Given the description of an element on the screen output the (x, y) to click on. 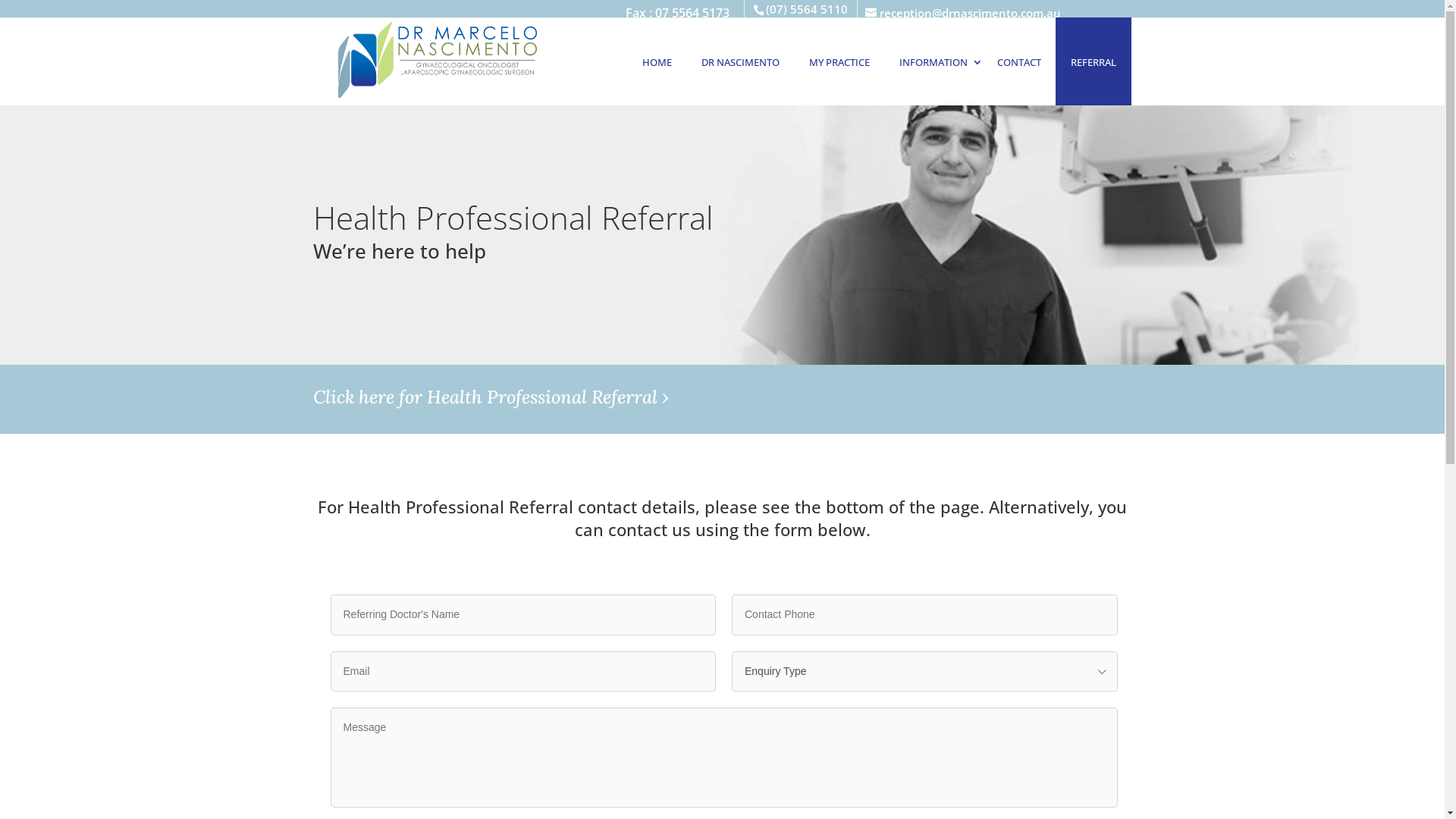
DR NASCIMENTO Element type: text (740, 61)
REFERRAL Element type: text (1093, 61)
(07) 5564 5110 Element type: text (806, 8)
reception@drnascimento.com.au Element type: text (523, 21)
HOME Element type: text (657, 61)
INFORMATION Element type: text (933, 61)
MY PRACTICE Element type: text (838, 61)
CONTACT Element type: text (1019, 61)
